Given the description of an element on the screen output the (x, y) to click on. 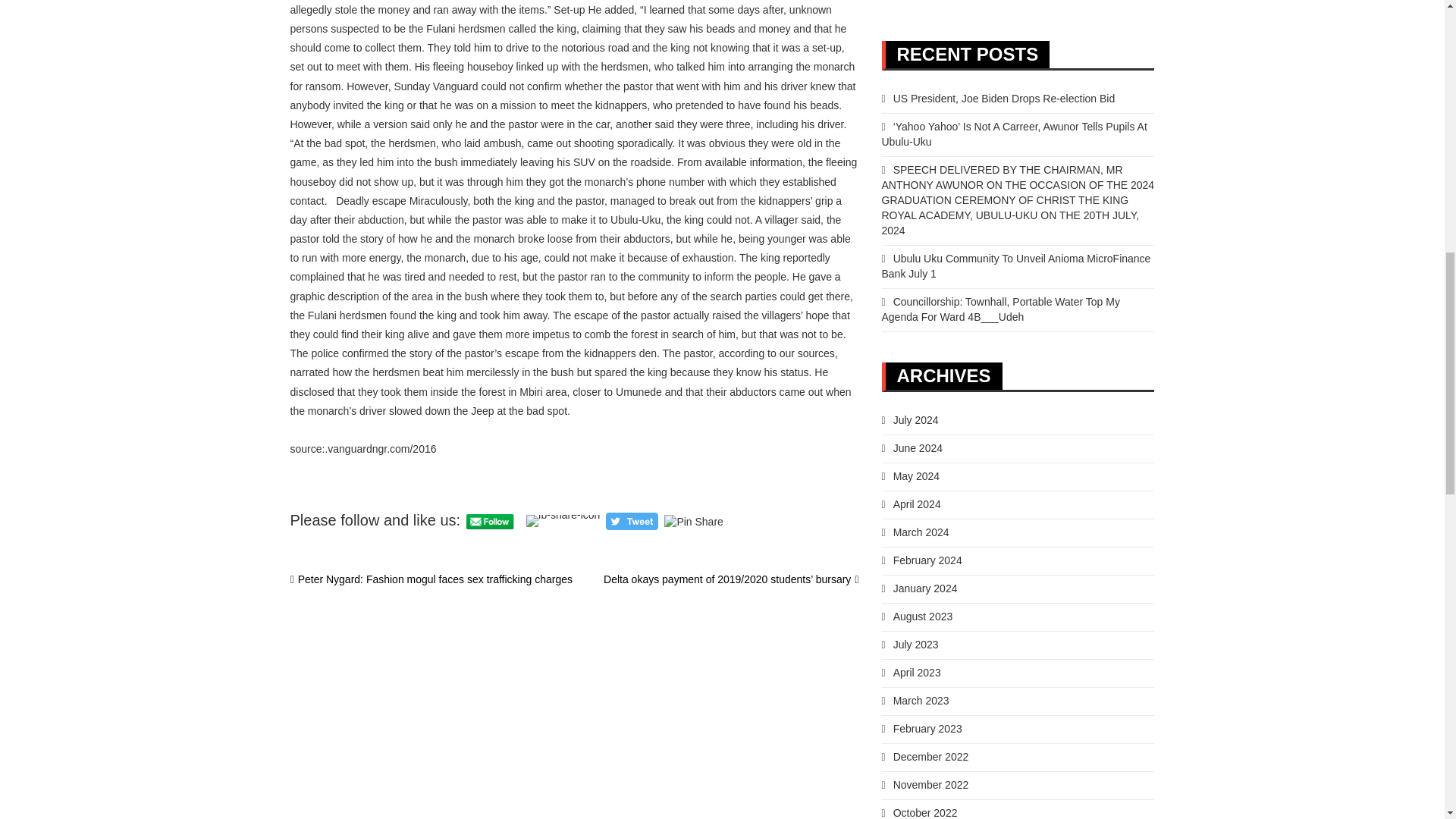
Peter Nygard: Fashion mogul faces sex trafficking charges (430, 579)
Facebook Share (562, 521)
Tweet (631, 520)
Pin Share (692, 521)
